Given the description of an element on the screen output the (x, y) to click on. 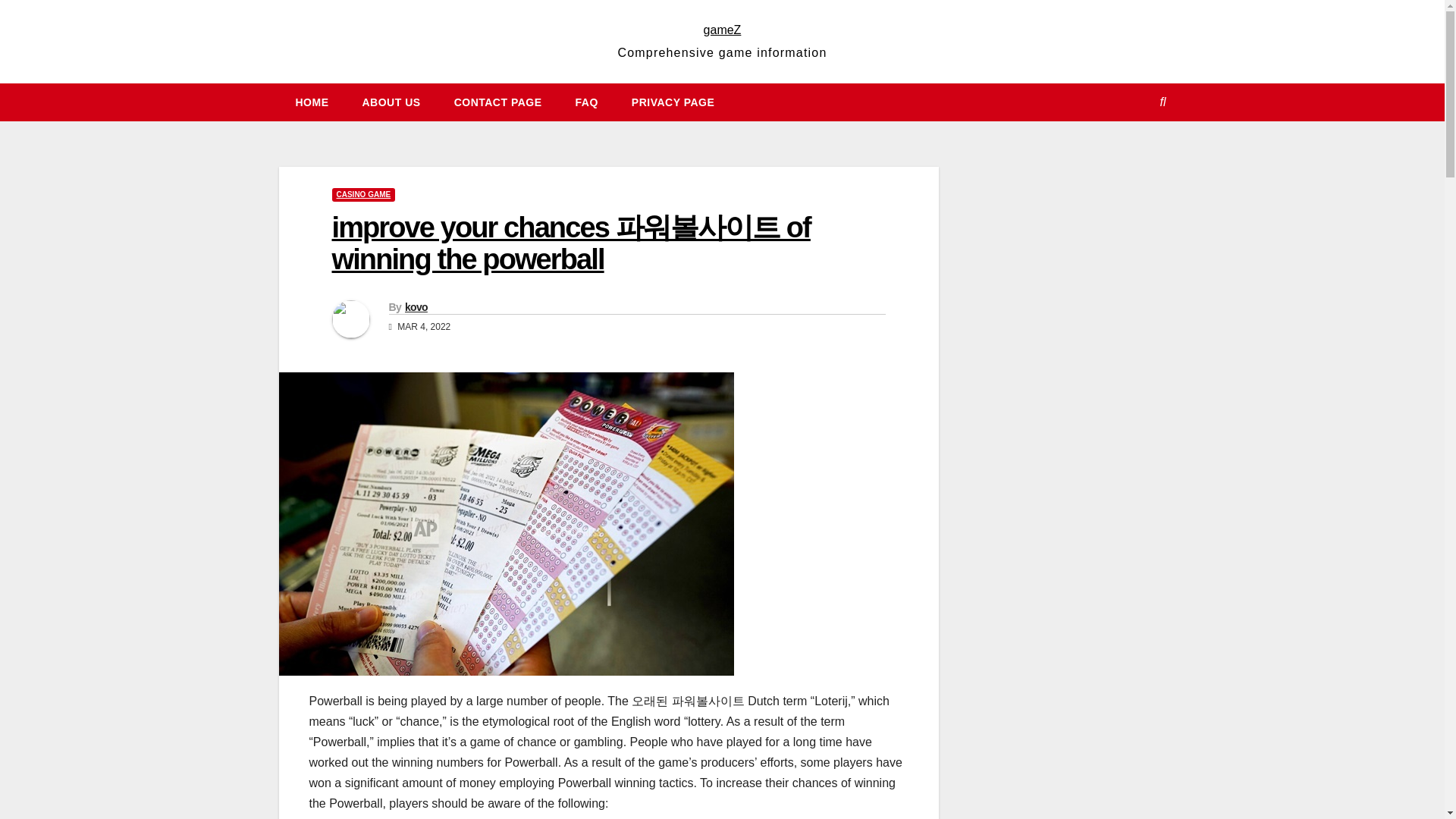
CONTACT PAGE (498, 102)
ABOUT US (392, 102)
HOME (312, 102)
FAQ (586, 102)
kovo (416, 306)
gameZ (722, 29)
CASINO GAME (363, 194)
PRIVACY PAGE (672, 102)
Home (312, 102)
